Given the description of an element on the screen output the (x, y) to click on. 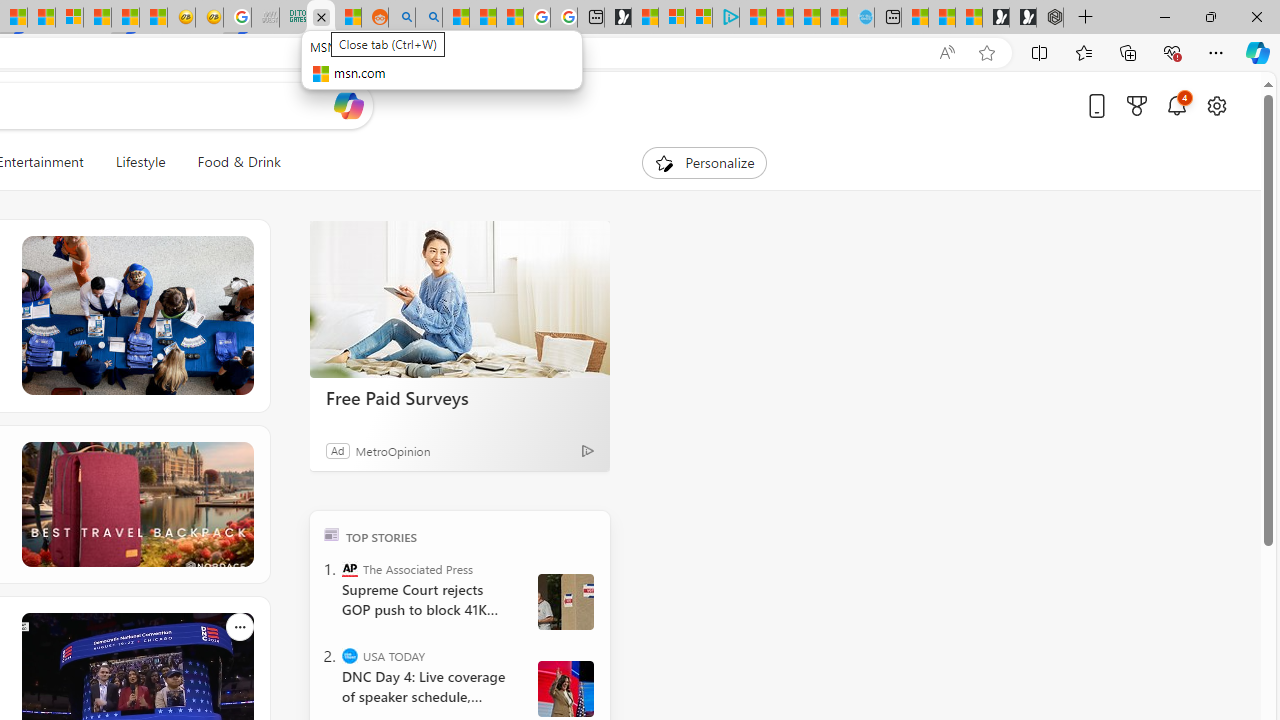
Free Paid Surveys (459, 397)
Lifestyle (139, 162)
USA TODAY (349, 655)
Open settings (1216, 105)
Food & Drink (239, 162)
